Given the description of an element on the screen output the (x, y) to click on. 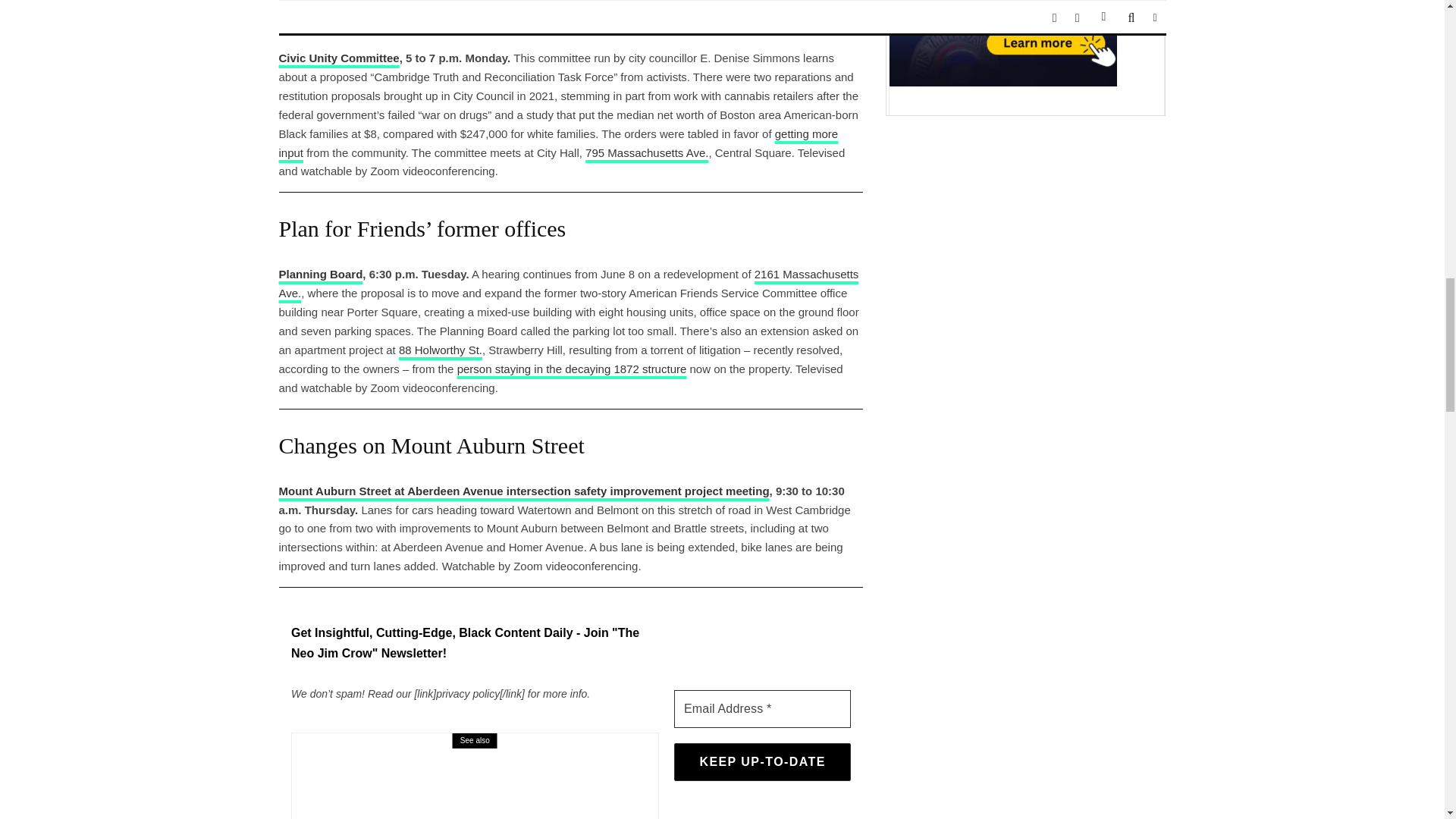
Keep Up-to-date (761, 761)
2161 Massachusetts Ave. (569, 283)
Keep Up-to-date (761, 761)
795 Massachusetts Ave. (646, 152)
getting more input (558, 142)
Planning Board (320, 273)
88 Holworthy St. (439, 349)
person staying in the decaying 1872 structure (572, 368)
Email Address (761, 709)
Civic Unity Committee (338, 57)
